Given the description of an element on the screen output the (x, y) to click on. 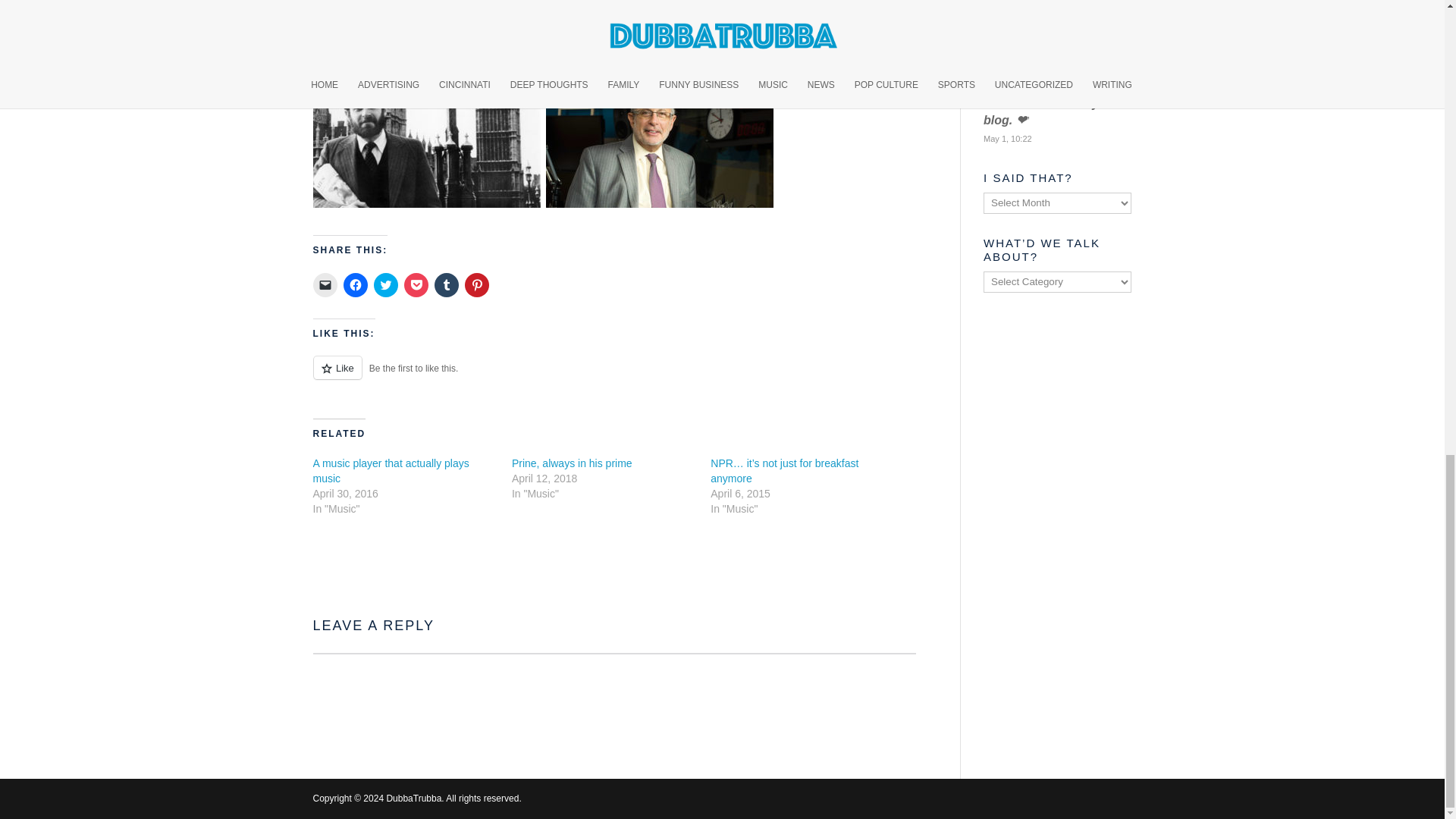
A music player that actually plays music (390, 470)
Click to share on Pinterest (475, 284)
Click to share on Facebook (354, 284)
A music player that actually plays music (390, 470)
Click to share on Pocket (415, 284)
Prine, always in his prime (571, 463)
Click to share on Tumblr (445, 284)
Like or Reblog (614, 376)
Click to email a link to a friend (324, 284)
Click to share on Twitter (384, 284)
